Given the description of an element on the screen output the (x, y) to click on. 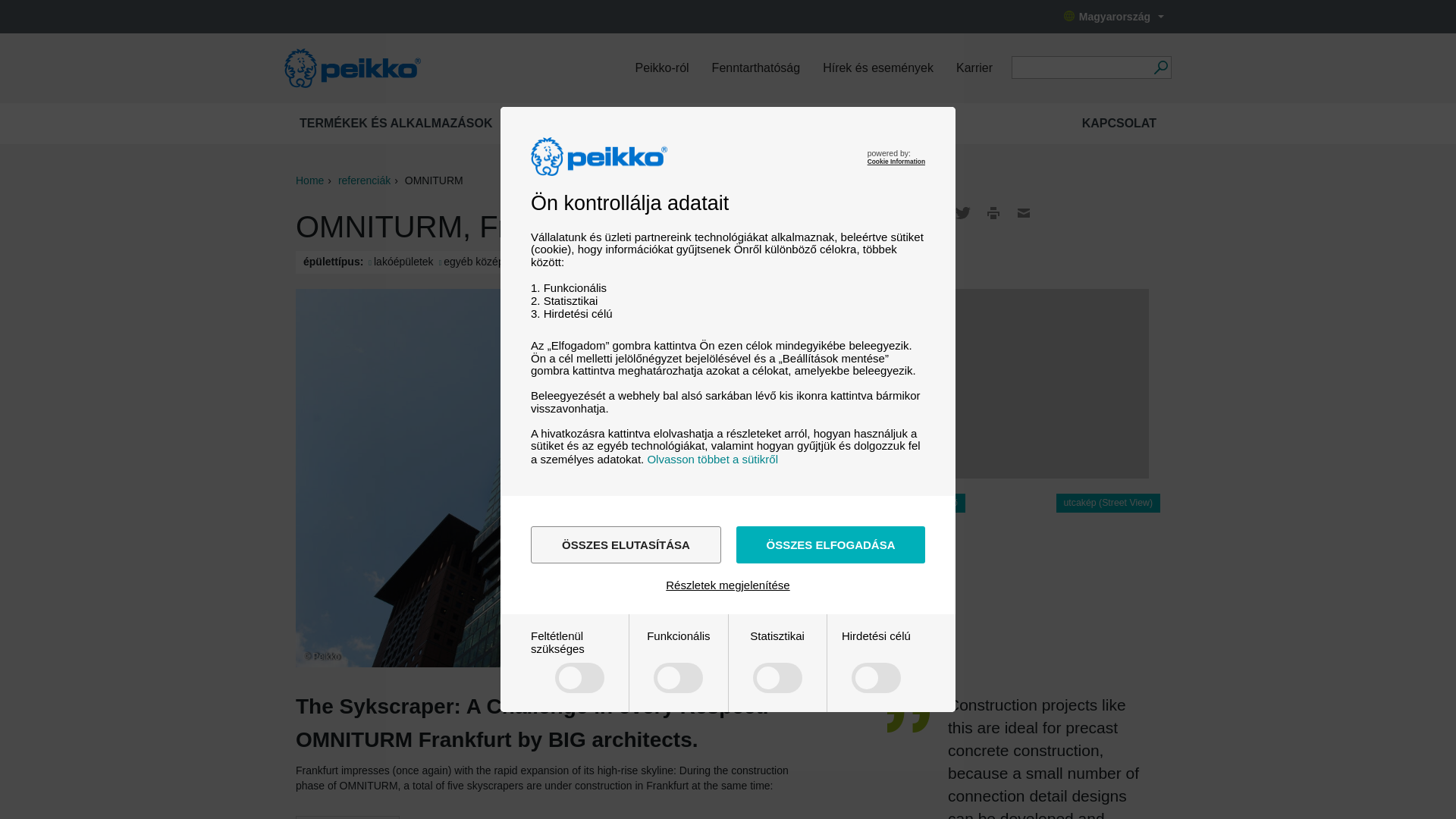
Cookie Information (895, 161)
Email link (1023, 212)
